Given the description of an element on the screen output the (x, y) to click on. 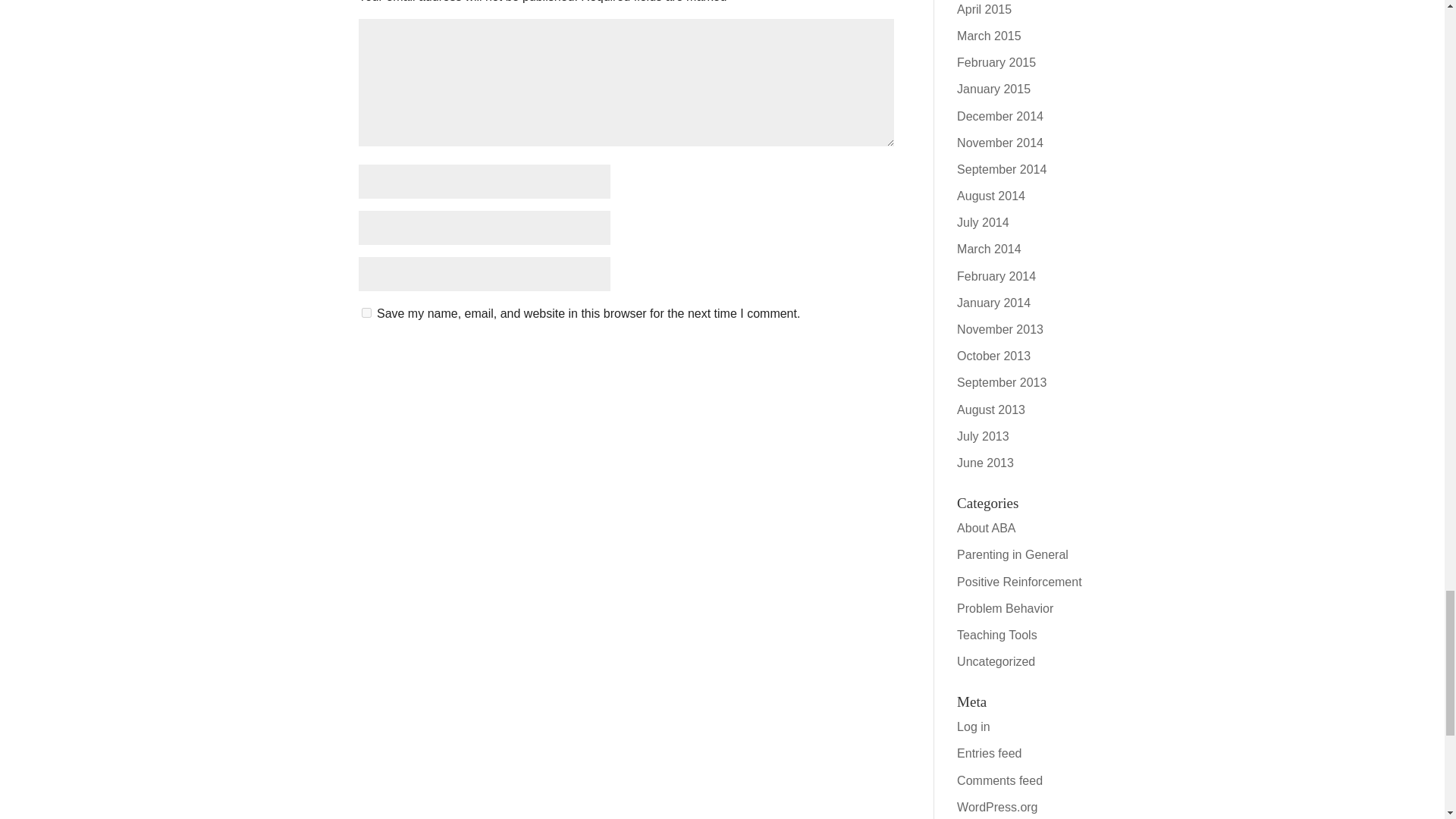
yes (366, 312)
Submit Comment (819, 354)
Submit Comment (819, 354)
